Given the description of an element on the screen output the (x, y) to click on. 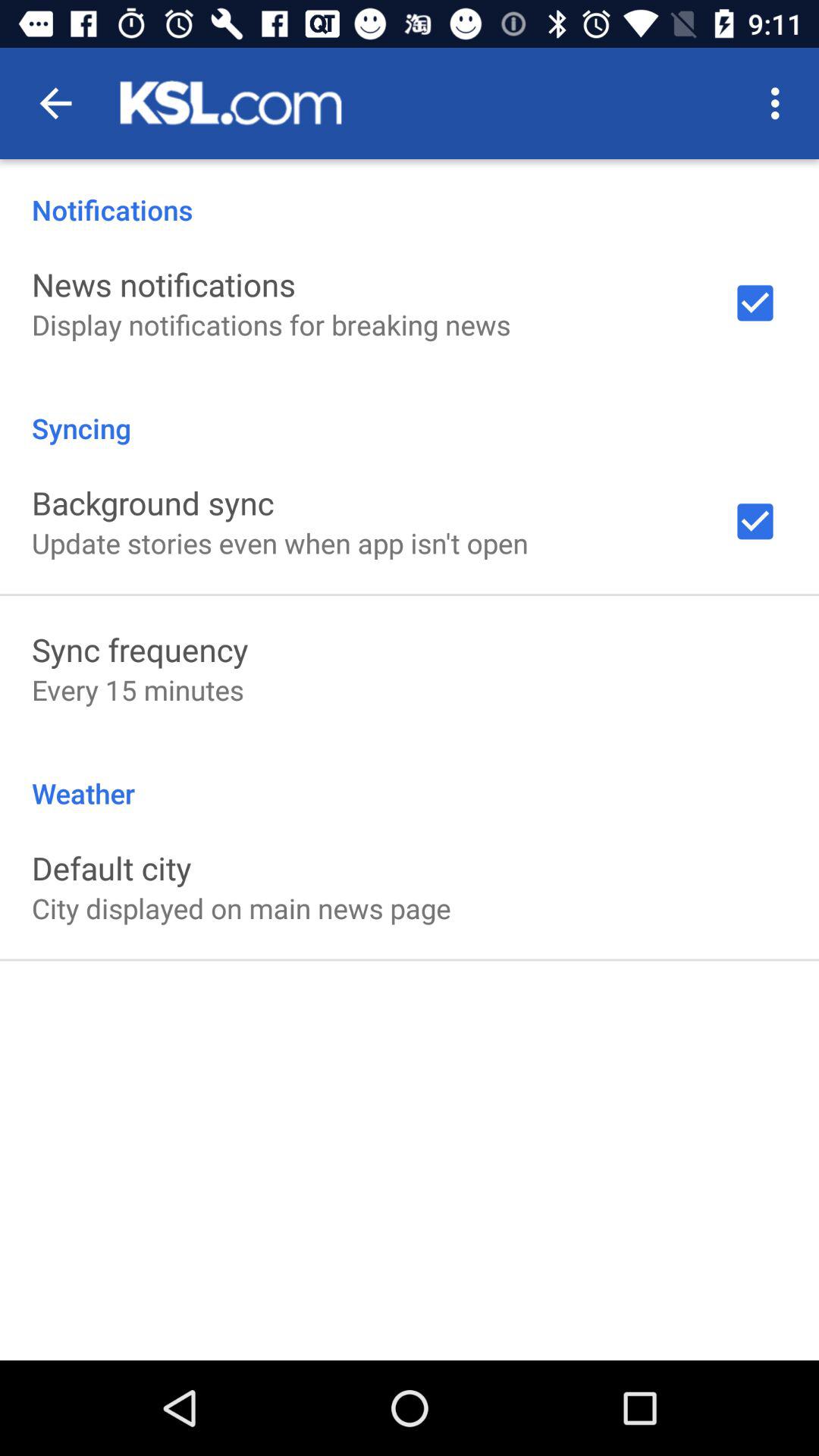
select icon above background sync item (409, 412)
